Given the description of an element on the screen output the (x, y) to click on. 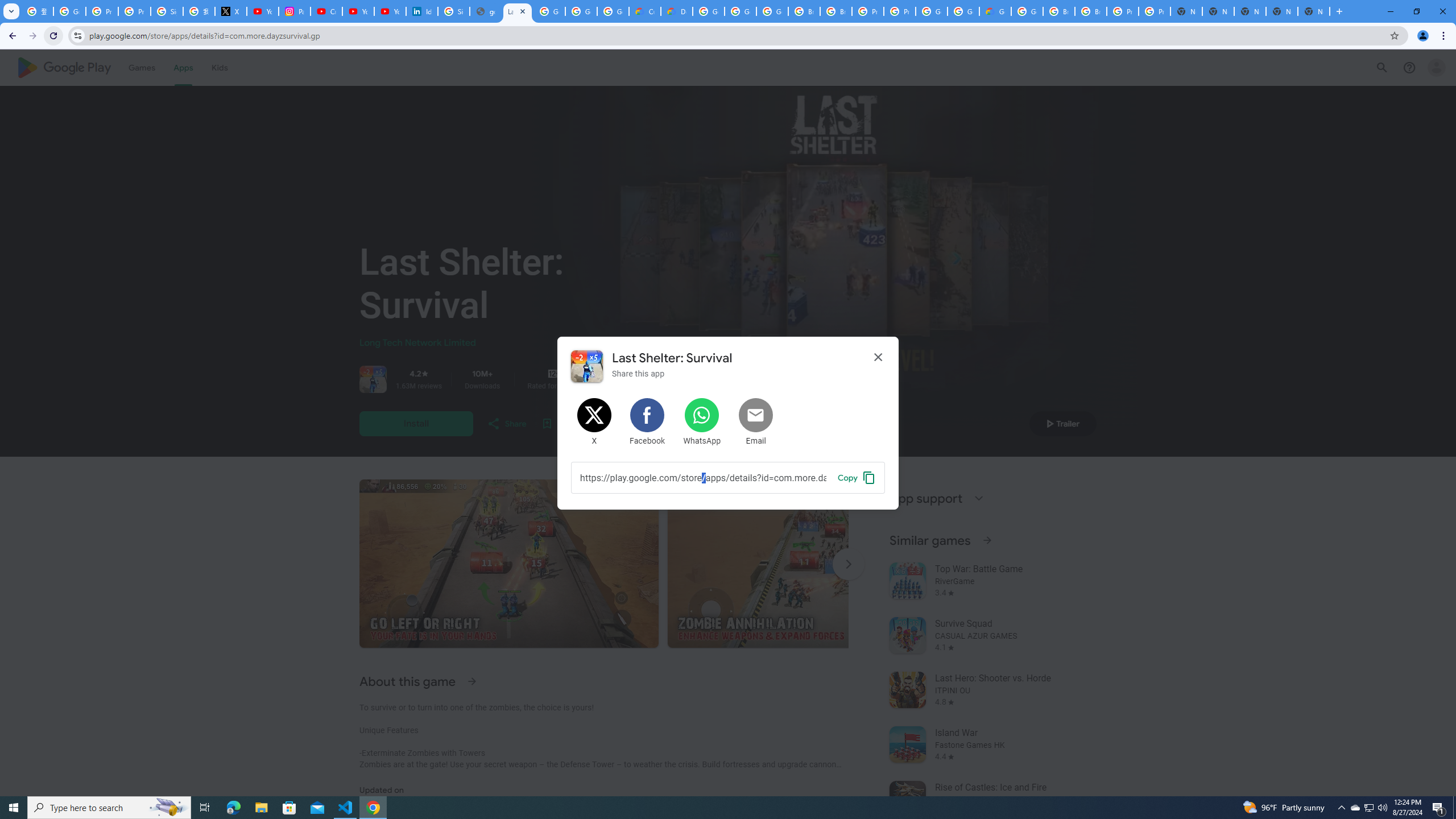
Browse Chrome as a guest - Computer - Google Chrome Help (1059, 11)
New Tab (1313, 11)
Google Cloud Estimate Summary (995, 11)
Identity verification via Persona | LinkedIn Help (421, 11)
google_privacy_policy_en.pdf (485, 11)
Google Cloud Platform (931, 11)
Privacy Help Center - Policies Help (134, 11)
Last Shelter: Survival - Apps on Google Play (517, 11)
